Given the description of an element on the screen output the (x, y) to click on. 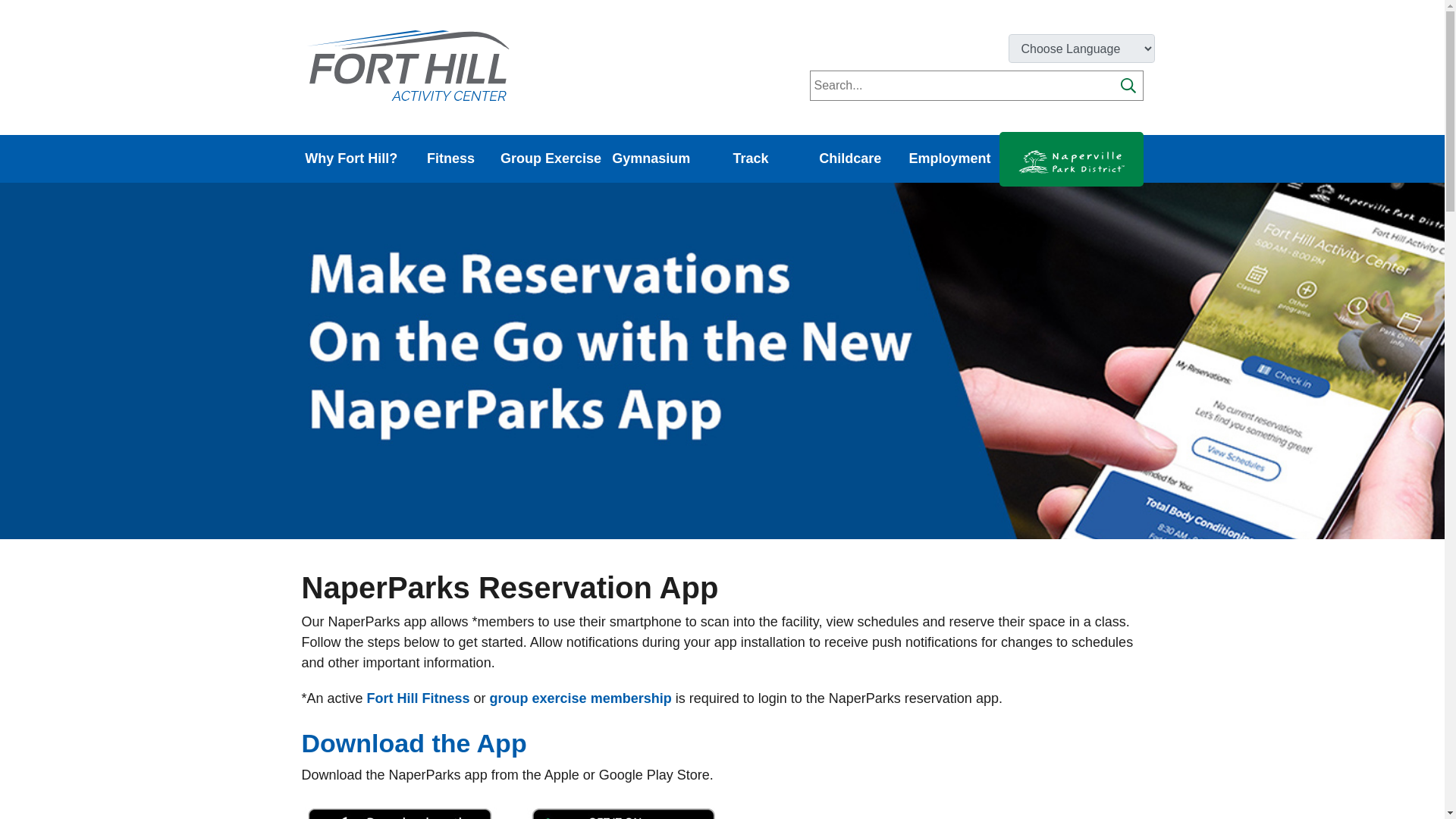
search (1128, 85)
Group Exercise (550, 158)
Employment (948, 158)
Gymnasium (650, 158)
Fitness (450, 158)
Childcare (849, 158)
Fort Hill Fitness (418, 698)
group exercise membership (580, 698)
Why Fort Hill? (351, 158)
Track (749, 158)
search (1128, 85)
